Given the description of an element on the screen output the (x, y) to click on. 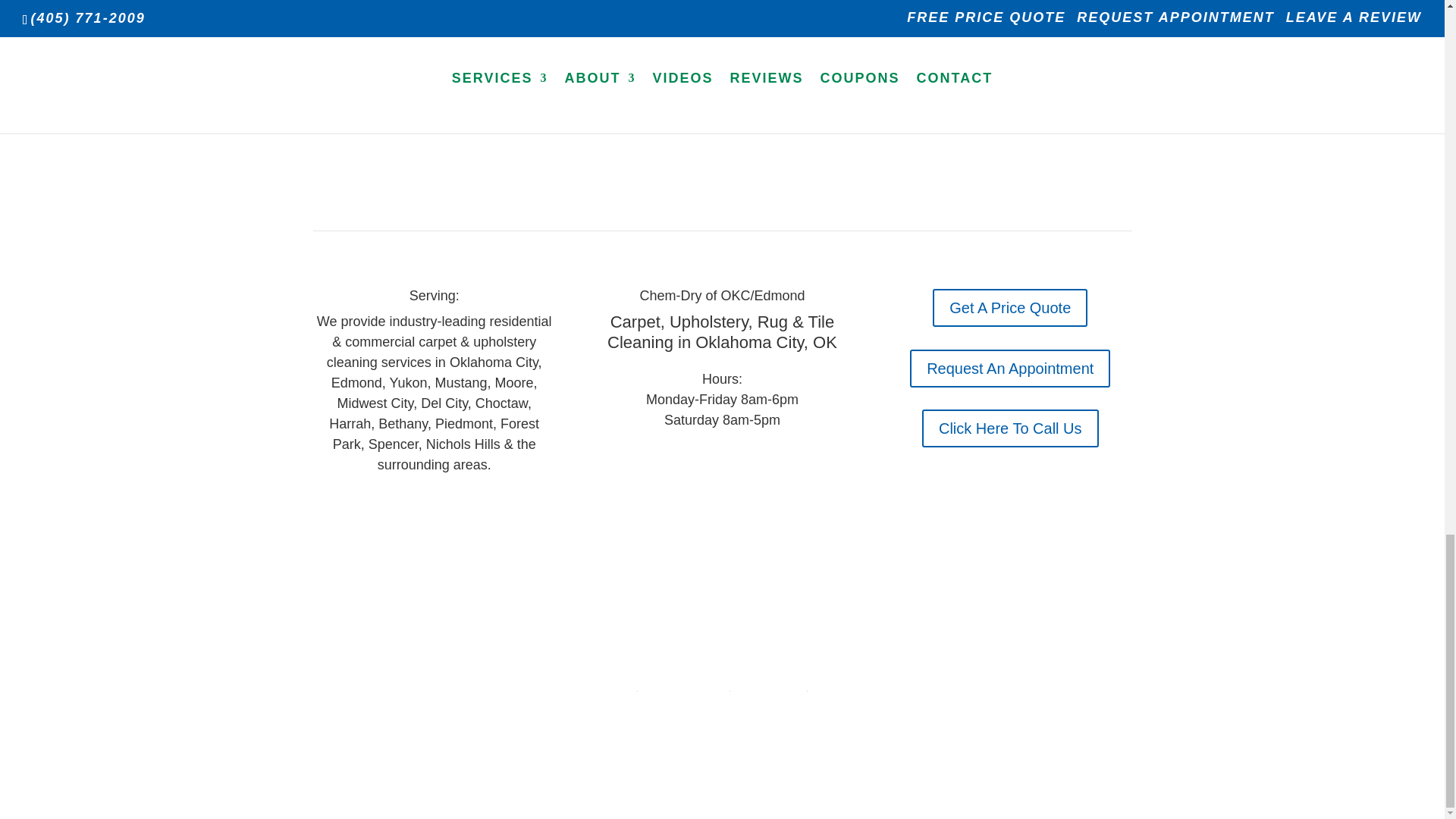
Click Here To Call Us (1010, 428)
Get A Price Quote (1010, 307)
Get A Free Price Quote (721, 11)
Follow on Facebook (418, 509)
Accessibility (767, 685)
Request An Appointment (1009, 368)
Follow on Youtube (449, 509)
